Given the description of an element on the screen output the (x, y) to click on. 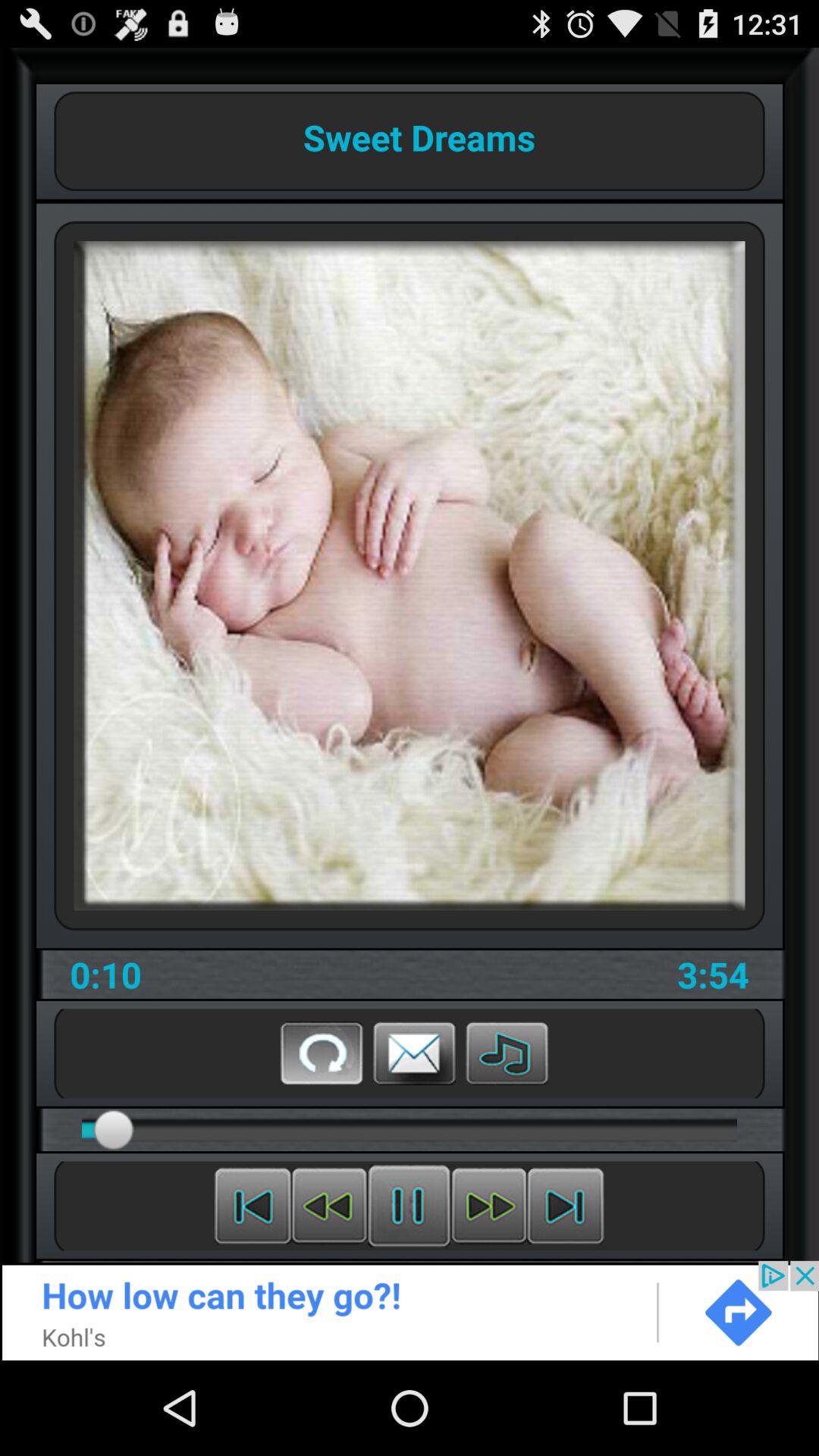
fast forward video clip (565, 1205)
